Given the description of an element on the screen output the (x, y) to click on. 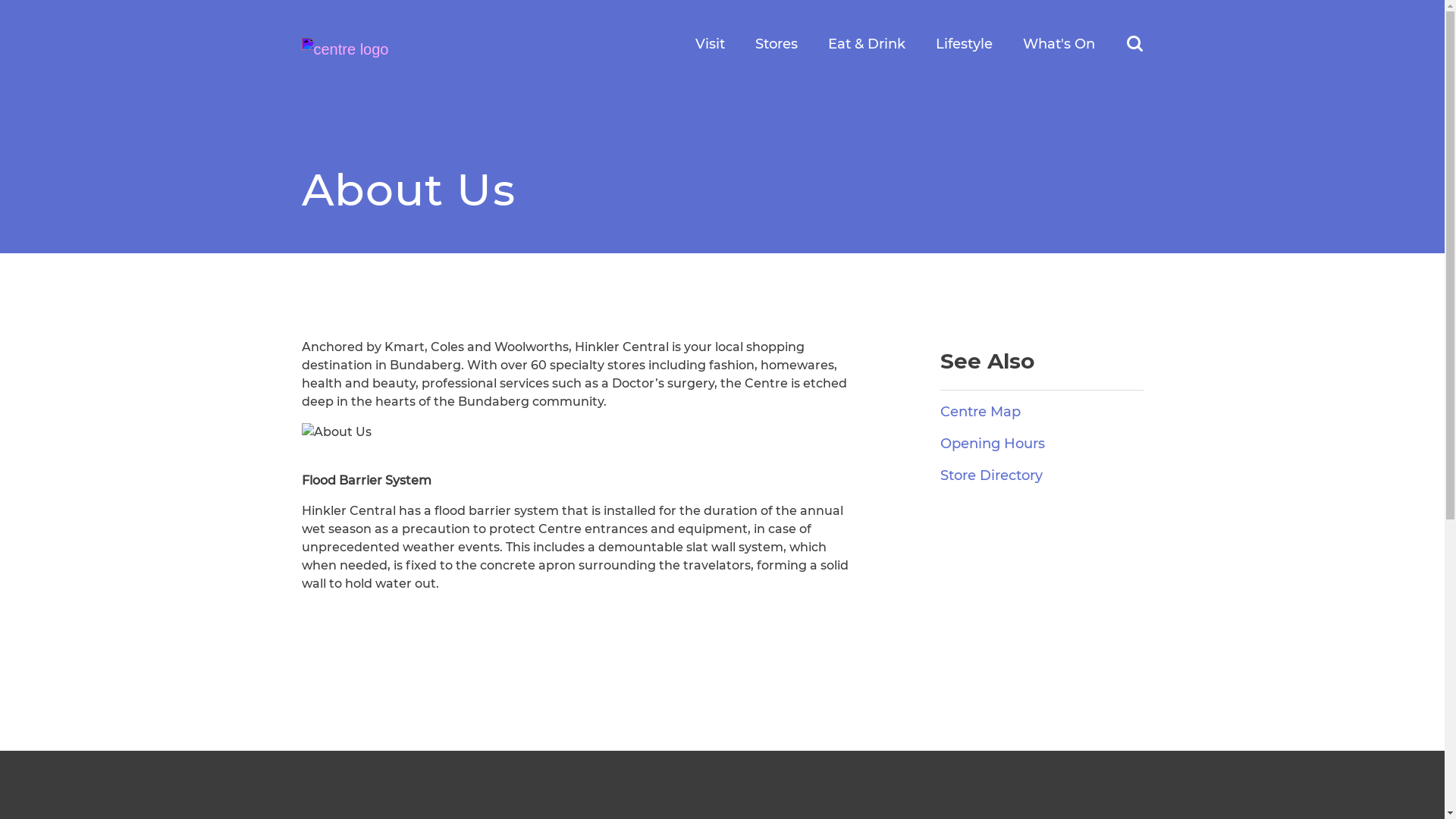
What's On Element type: text (1058, 44)
Visit Element type: text (709, 44)
Eat & Drink Element type: text (866, 44)
Store Directory Element type: text (991, 475)
Opening Hours Element type: text (992, 443)
Lifestyle Element type: text (963, 44)
Stores Element type: text (776, 44)
Centre Map Element type: text (980, 411)
